Given the description of an element on the screen output the (x, y) to click on. 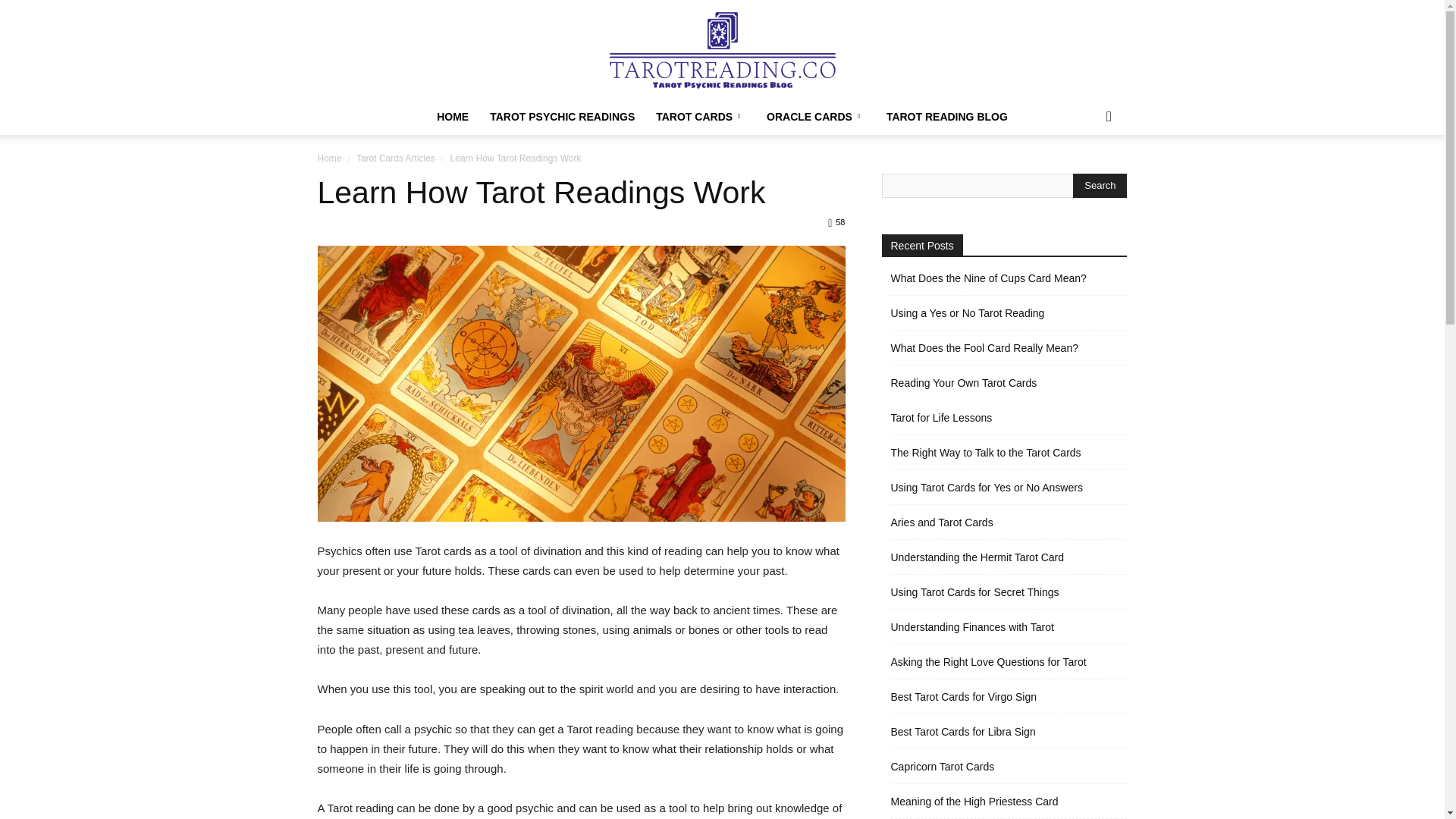
TAROT CARDS (700, 116)
TAROT PSYCHIC READINGS (562, 116)
Search (1099, 185)
HOME (452, 116)
View all posts in Tarot Cards Articles (395, 158)
TAROT READING BLOG (946, 116)
Search (1085, 177)
Tarot Cards Articles (395, 158)
Home (328, 158)
ORACLE CARDS (815, 116)
